Given the description of an element on the screen output the (x, y) to click on. 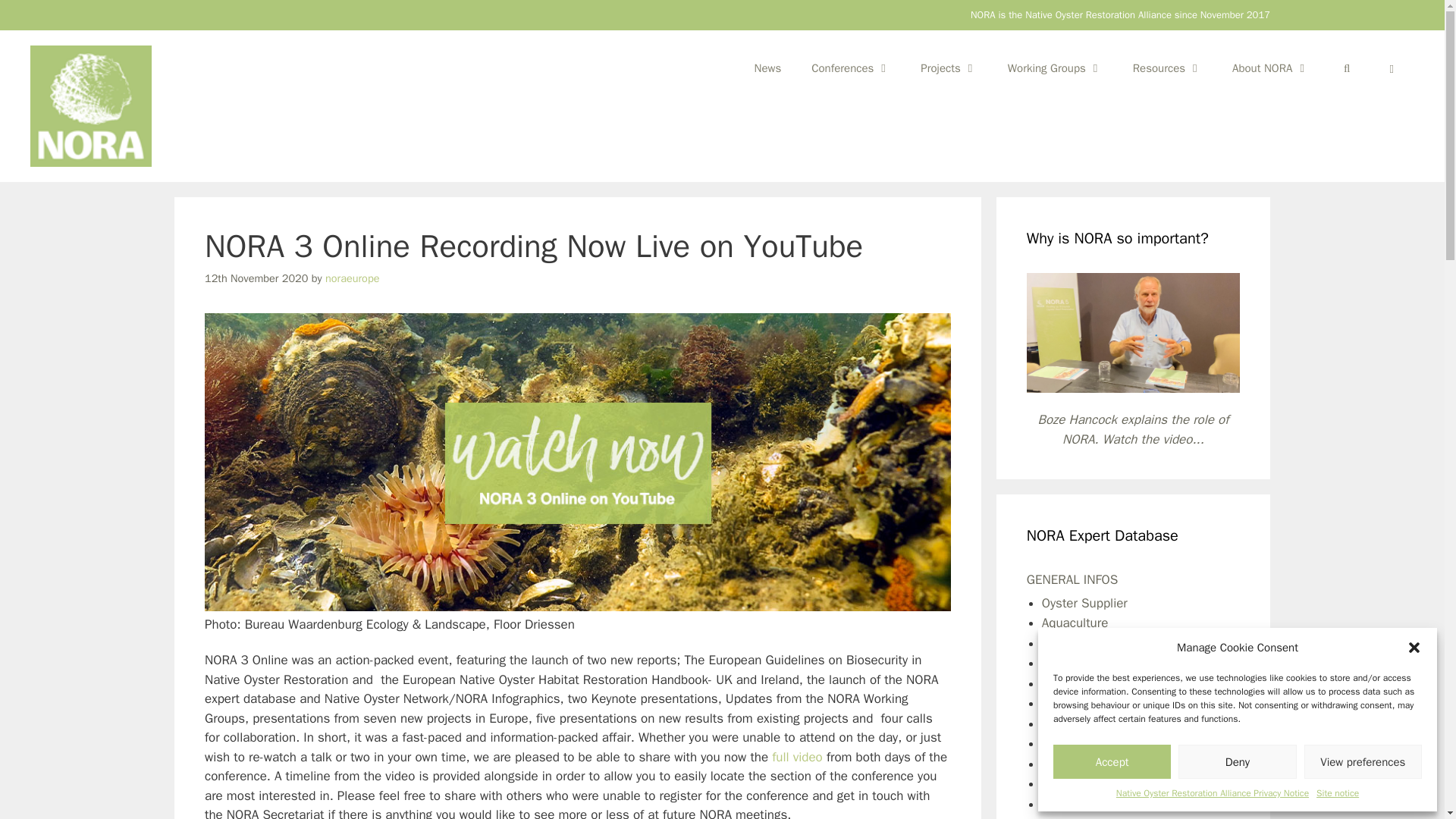
Accept (1111, 761)
View preferences (1363, 761)
News (767, 67)
Conferences (850, 67)
View all posts by noraeurope (351, 278)
Projects (948, 67)
Deny (1236, 761)
Site notice (1337, 793)
Native Oyster Restoration Alliance Privacy Notice (1212, 793)
